Given the description of an element on the screen output the (x, y) to click on. 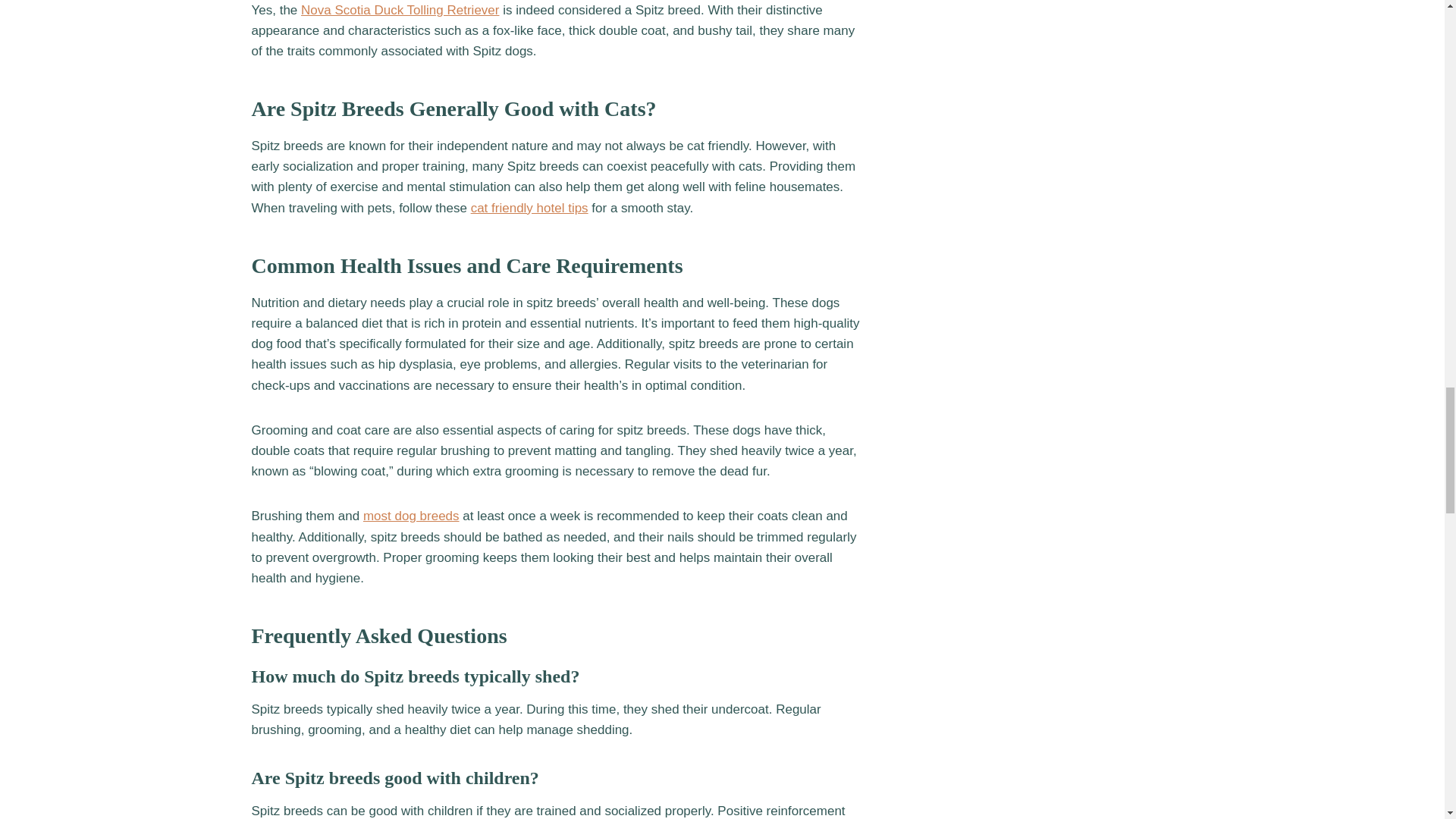
Nova Scotia Duck Tolling Retriever (400, 10)
cat friendly hotel tips (529, 207)
